Given the description of an element on the screen output the (x, y) to click on. 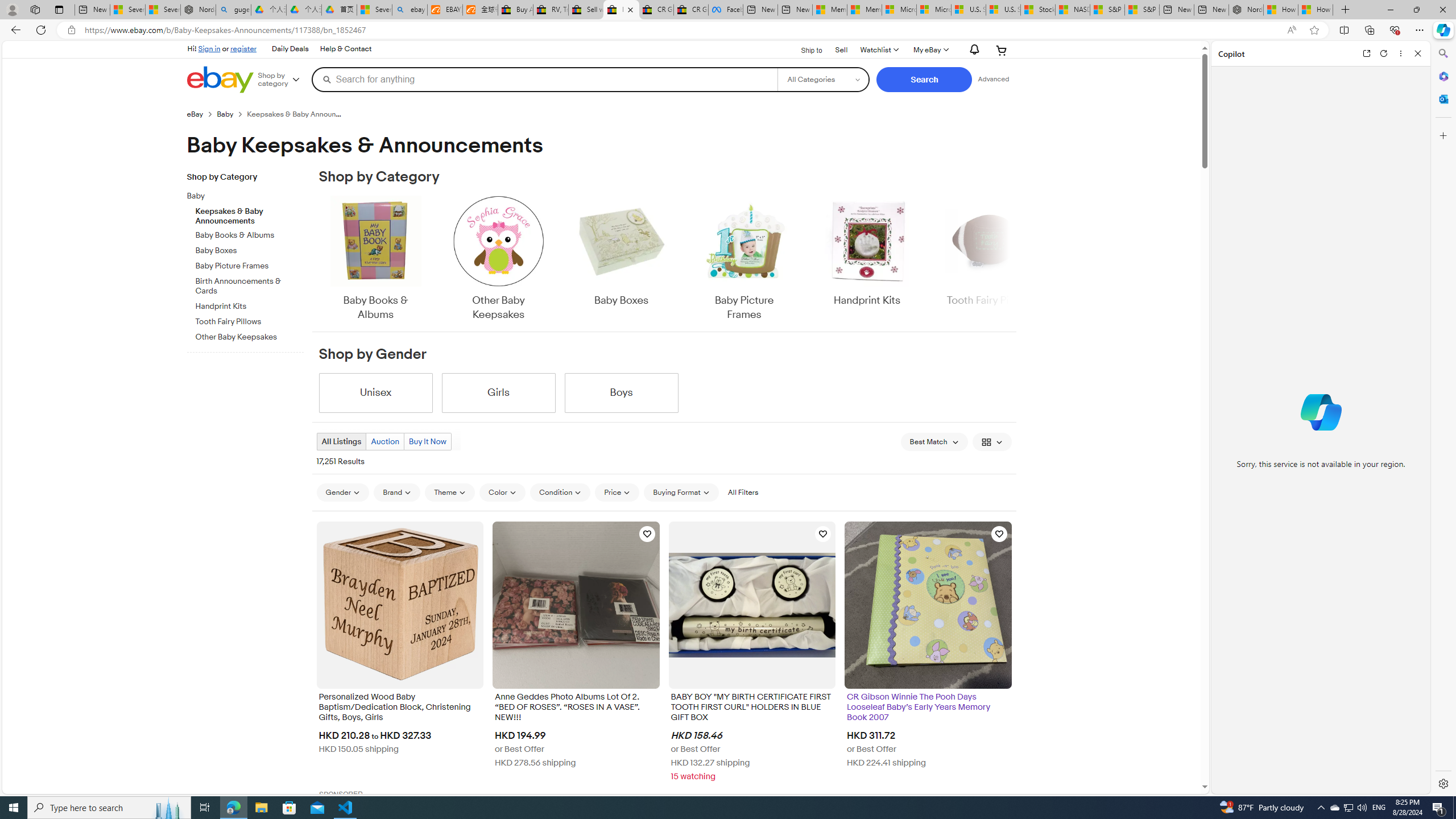
eBay (194, 113)
Ship to (804, 49)
Auction (384, 441)
Watchlist (878, 49)
Condition (560, 492)
Other Baby Keepsakes (498, 258)
Baby Books & Albums (375, 258)
Baby (249, 194)
